Given the description of an element on the screen output the (x, y) to click on. 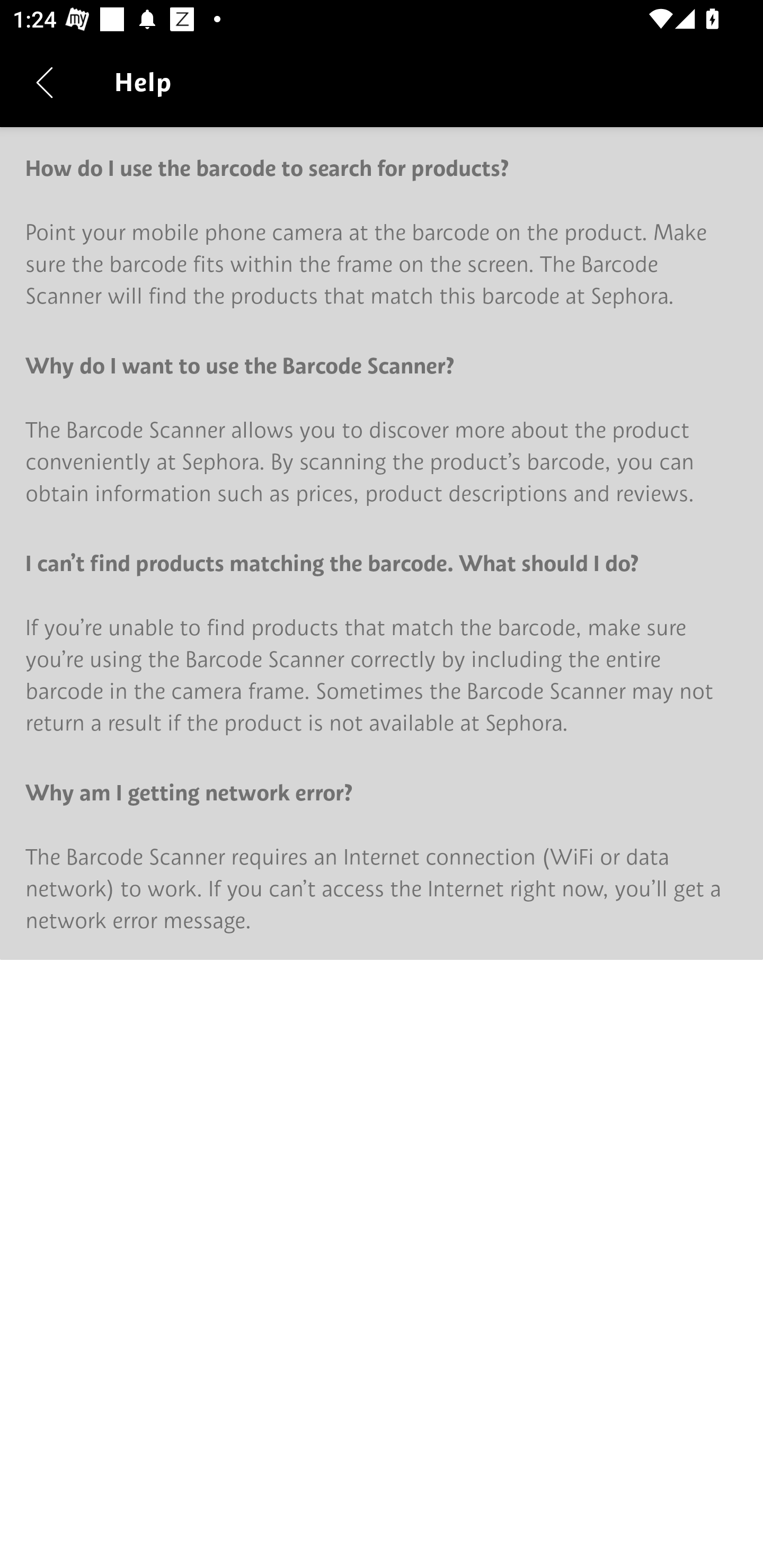
Navigate up (44, 82)
